Given the description of an element on the screen output the (x, y) to click on. 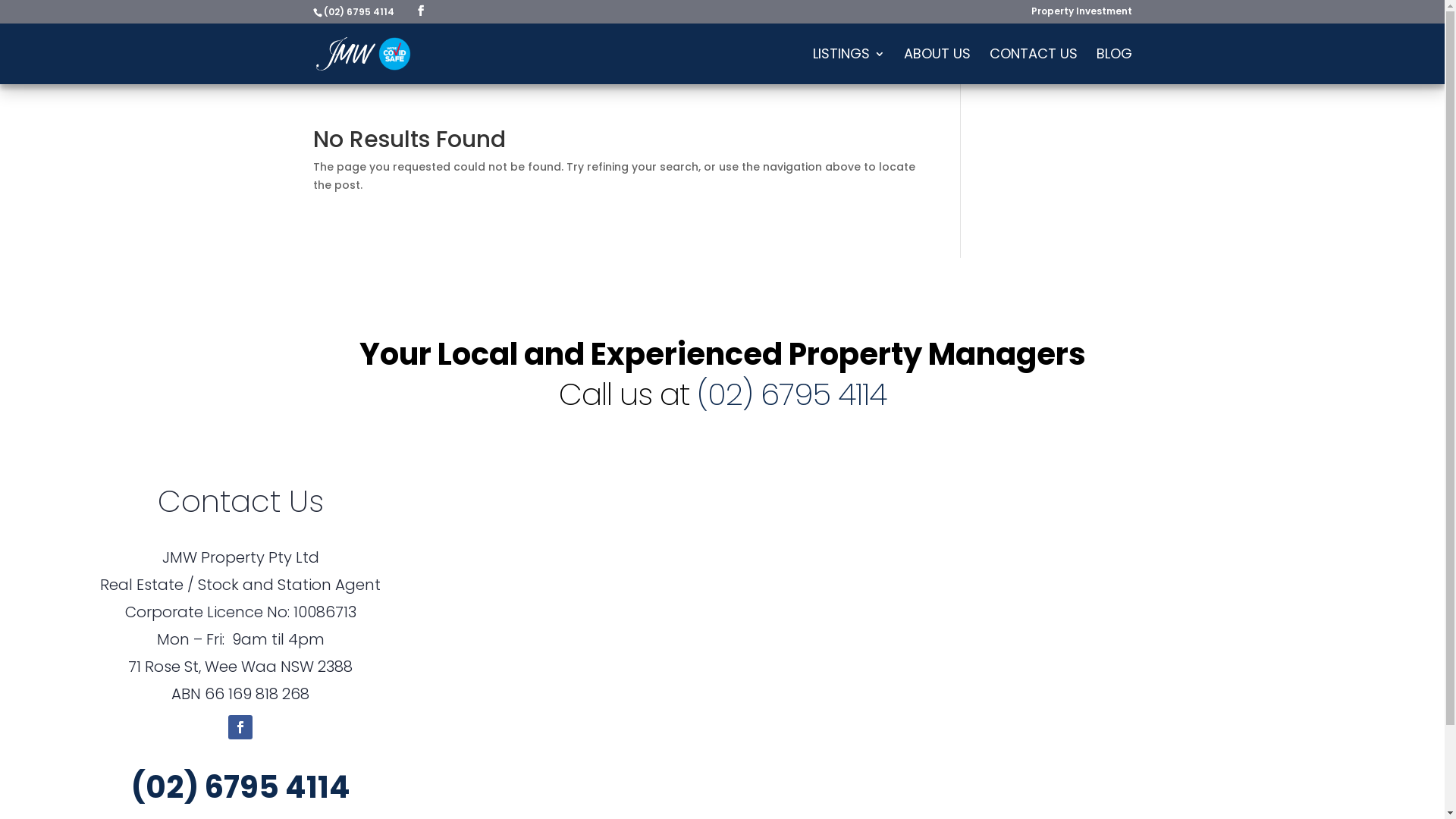
CONTACT US Element type: text (1032, 66)
(02) 6795 4114 Element type: text (240, 786)
(02) 6795 4114 Element type: text (790, 394)
BLOG Element type: text (1114, 66)
ABOUT US Element type: text (936, 66)
Property Investment Element type: text (1081, 14)
LISTINGS Element type: text (848, 66)
Follow on Facebook Element type: hover (240, 727)
